Given the description of an element on the screen output the (x, y) to click on. 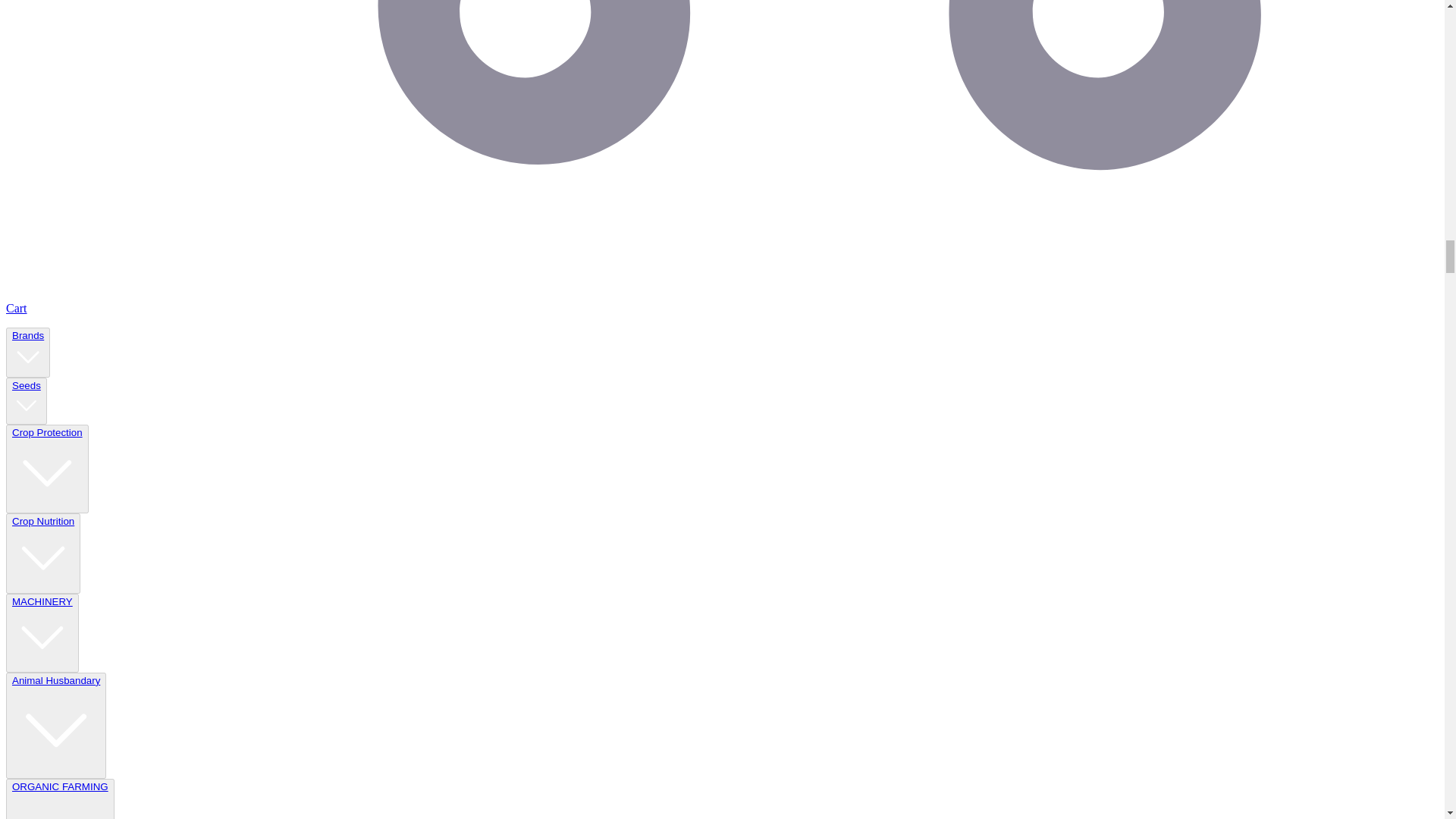
Crop Nutrition (42, 553)
MACHINERY (41, 632)
Animal Husbandary (55, 725)
ORGANIC FARMING (59, 800)
ORGANIC FARMING (60, 798)
Crop Protection (46, 469)
